Given the description of an element on the screen output the (x, y) to click on. 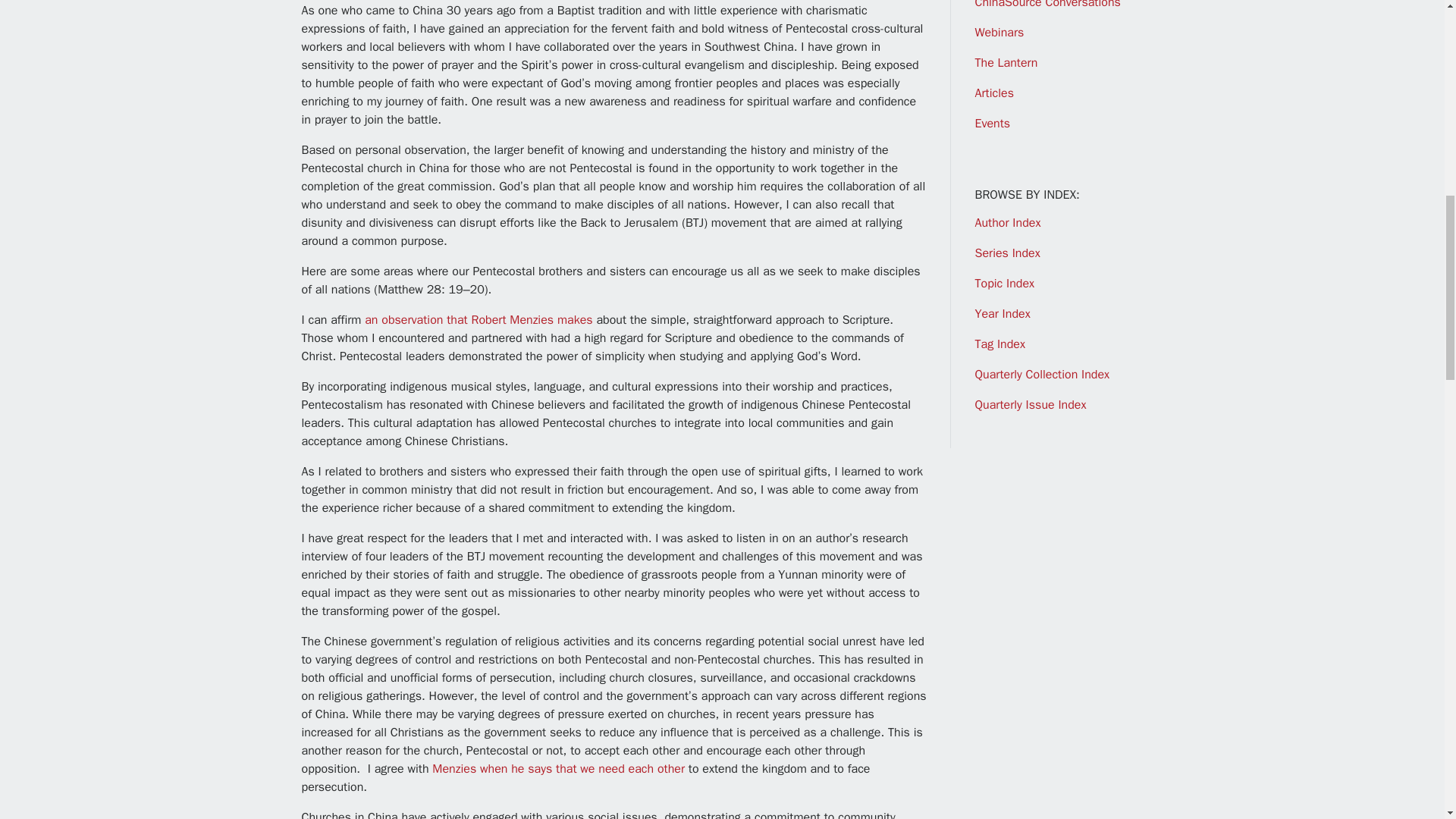
an observation that Robert Menzies makes (478, 319)
Menzies when he says that we need each other (558, 768)
